Given the description of an element on the screen output the (x, y) to click on. 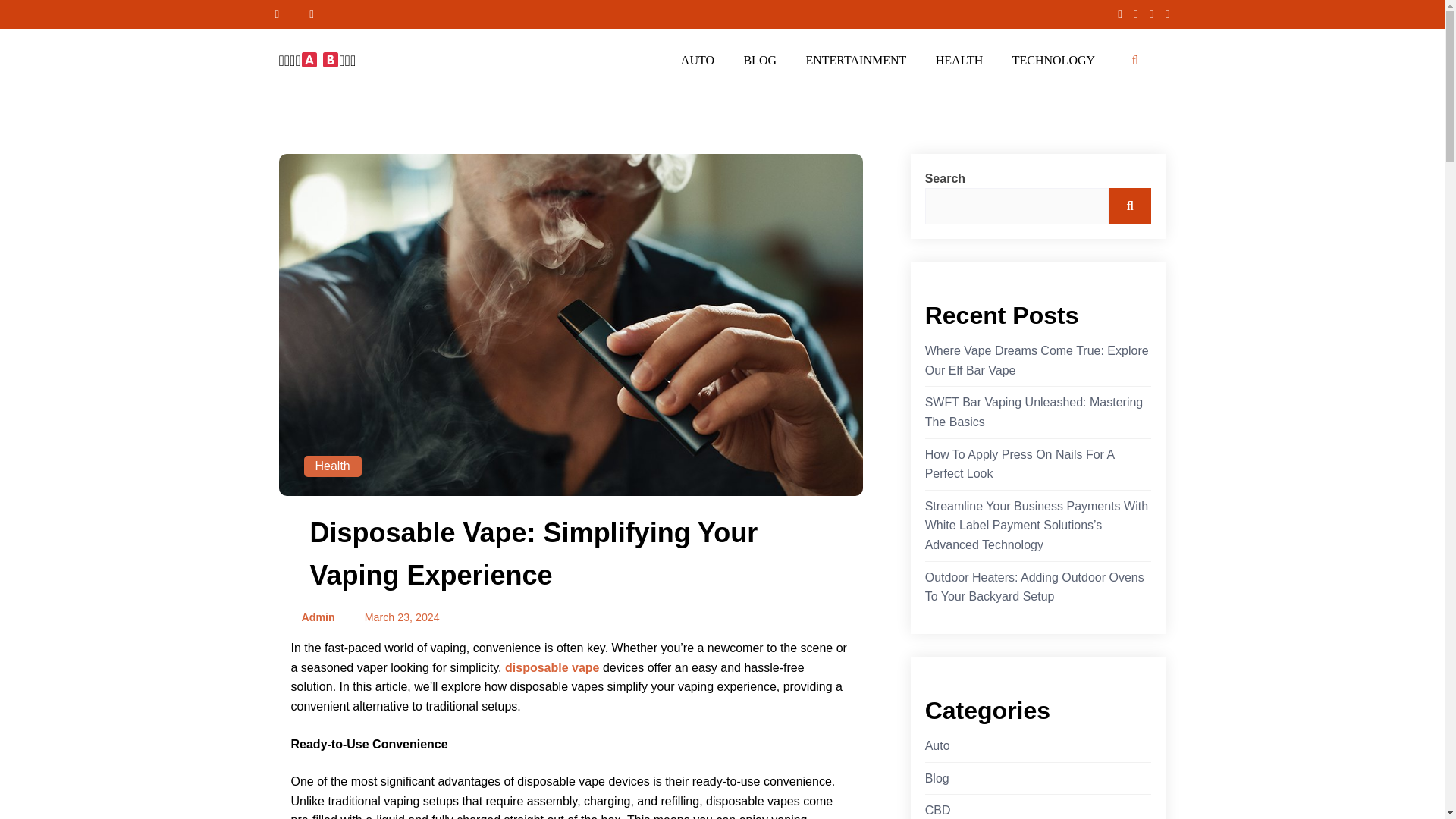
Health (331, 465)
TECHNOLOGY (1053, 60)
HEALTH (959, 60)
March 23, 2024 (402, 616)
ENTERTAINMENT (855, 60)
AUTO (697, 60)
Admin (312, 617)
BLOG (759, 60)
disposable vape (552, 667)
